Given the description of an element on the screen output the (x, y) to click on. 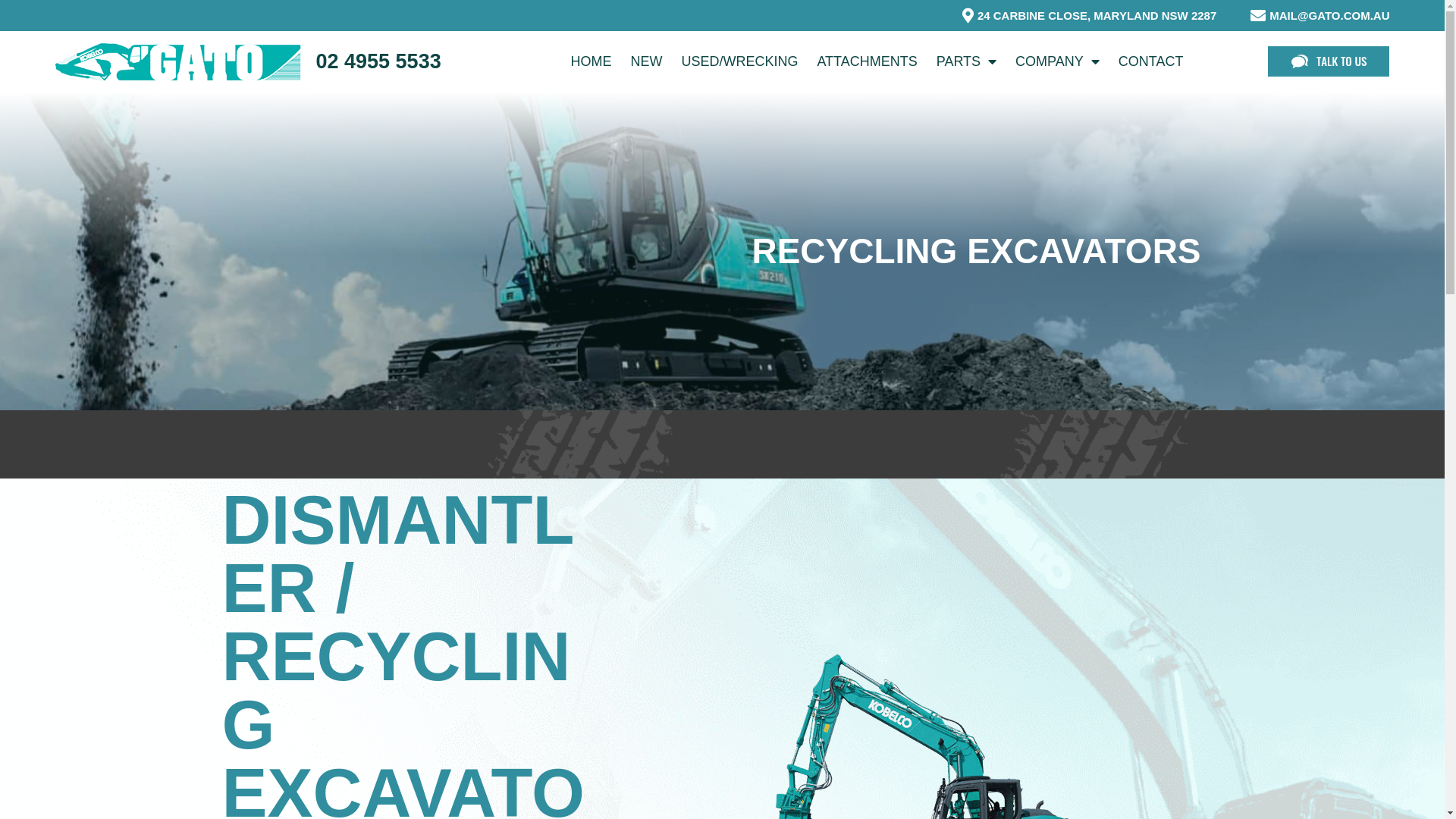
NEW Element type: text (645, 61)
HOME Element type: text (590, 61)
ATTACHMENTS Element type: text (866, 61)
USED/WRECKING Element type: text (739, 61)
MAIL@GATO.COM.AU Element type: text (1317, 15)
CONTACT Element type: text (1150, 61)
PARTS Element type: text (966, 61)
02 4955 5533 Element type: text (377, 61)
24 CARBINE CLOSE, MARYLAND NSW 2287 Element type: text (1085, 15)
COMPANY Element type: text (1057, 61)
